Given the description of an element on the screen output the (x, y) to click on. 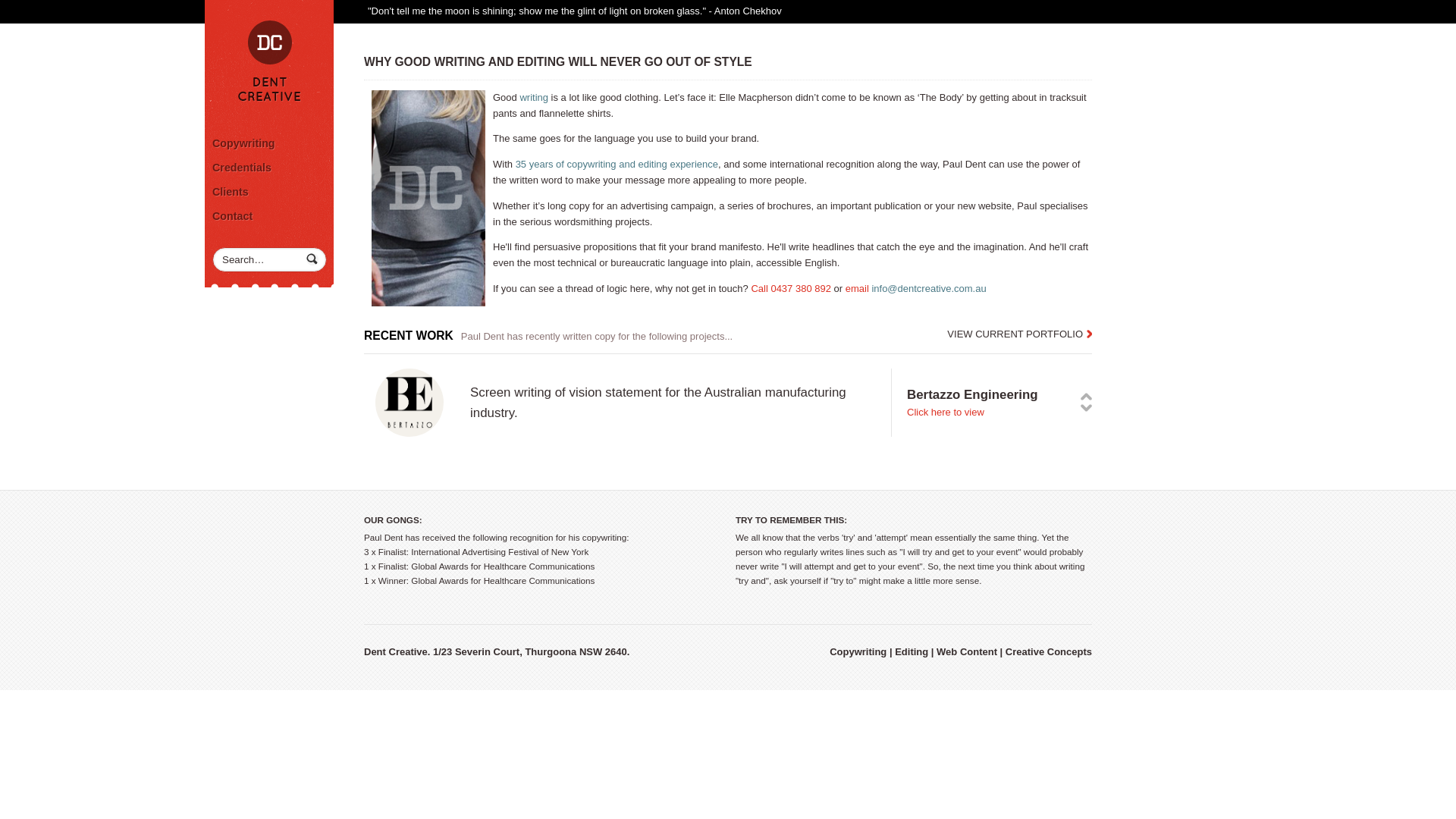
Credentials Element type: text (268, 167)
Clients Element type: text (268, 191)
Copywriting | Editing | Web Content | Creative Concepts Element type: hover (268, 60)
35 years of copywriting and editing experience Element type: text (616, 163)
Click here to view Element type: text (945, 411)
info@dentcreative.com.au Element type: text (928, 288)
Previous Element type: text (1086, 396)
VIEW CURRENT PORTFOLIO Element type: text (1019, 334)
Copywriting Element type: text (268, 143)
Contact Element type: text (268, 215)
Next Element type: text (1086, 407)
writing Element type: text (533, 97)
